Given the description of an element on the screen output the (x, y) to click on. 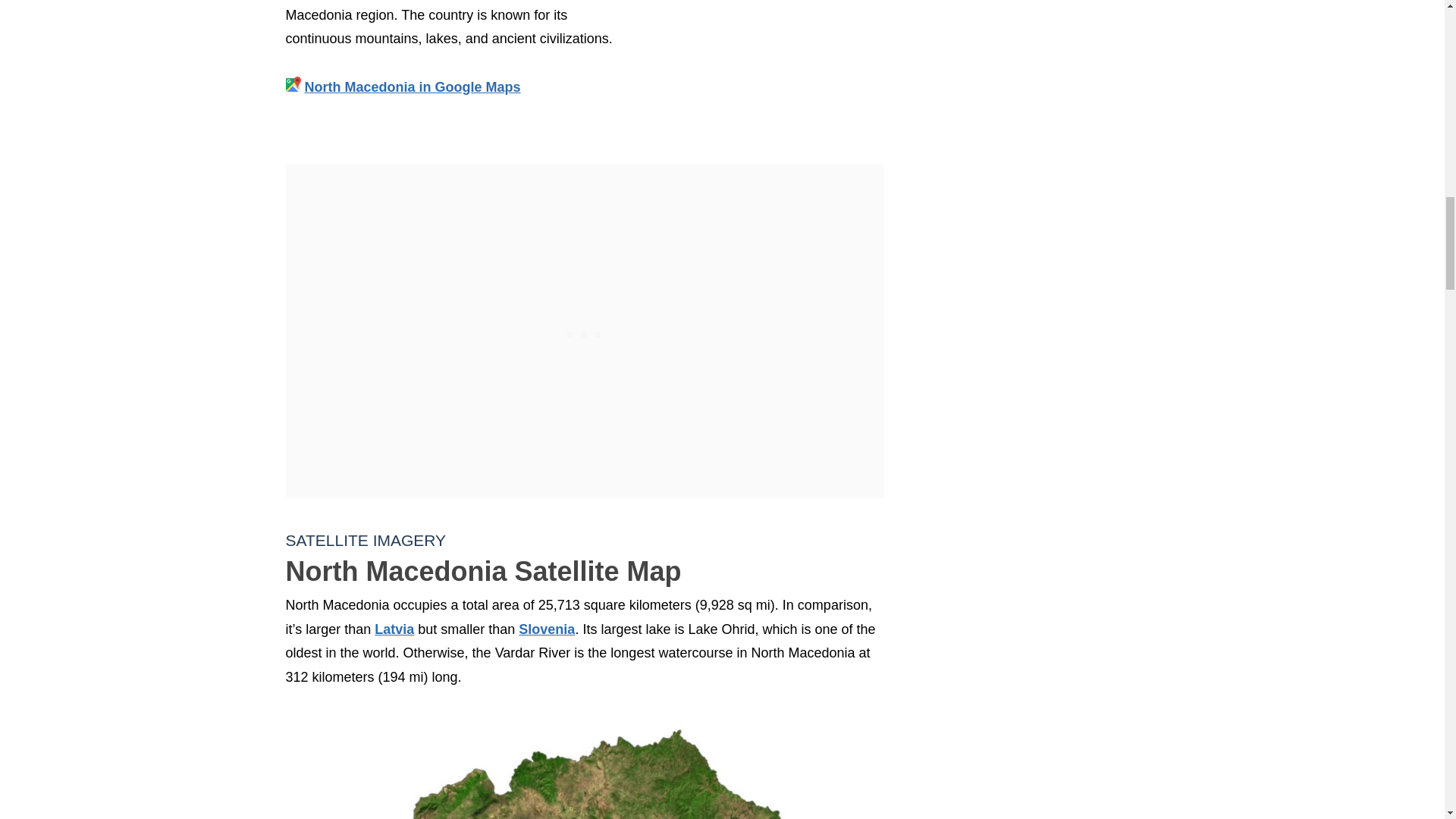
Latvia (393, 629)
North Macedonia in Google Maps (412, 87)
Slovenia (546, 629)
